Given the description of an element on the screen output the (x, y) to click on. 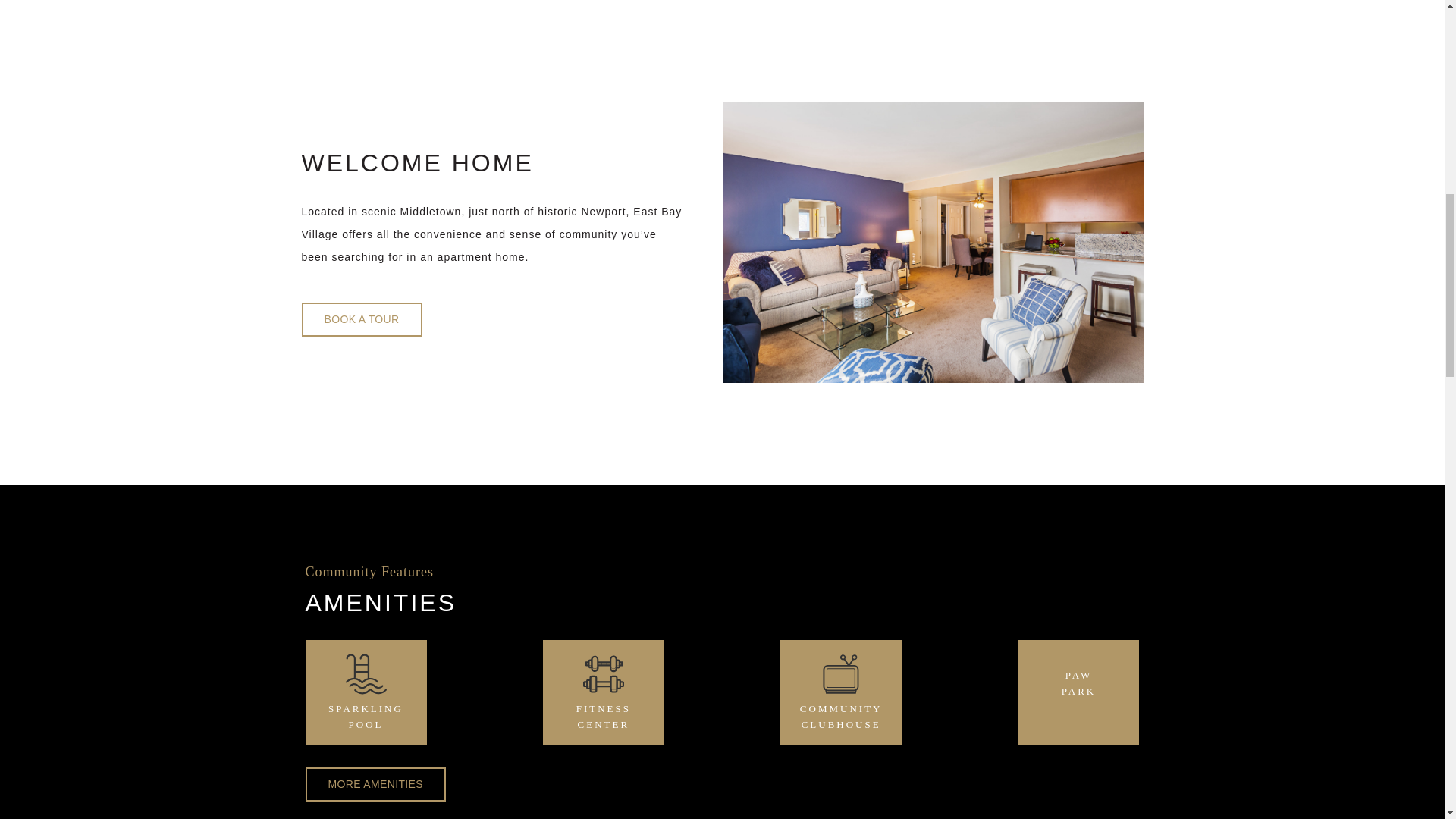
BOOK A TOUR (365, 703)
MORE AMENITIES (603, 703)
